Given the description of an element on the screen output the (x, y) to click on. 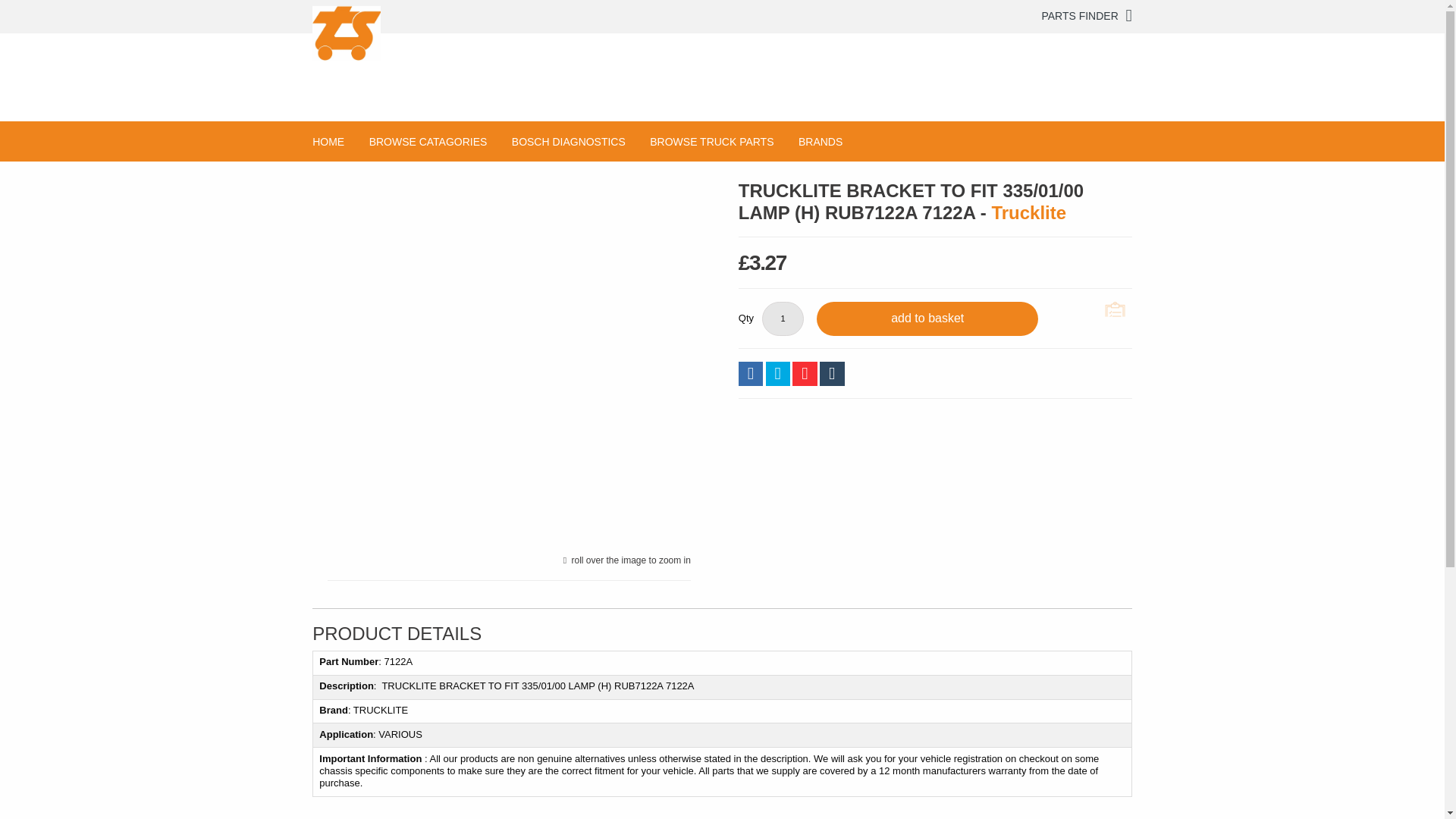
1 (782, 319)
MY ACCOUNT (353, 17)
PARTS FINDER (1086, 16)
